Given the description of an element on the screen output the (x, y) to click on. 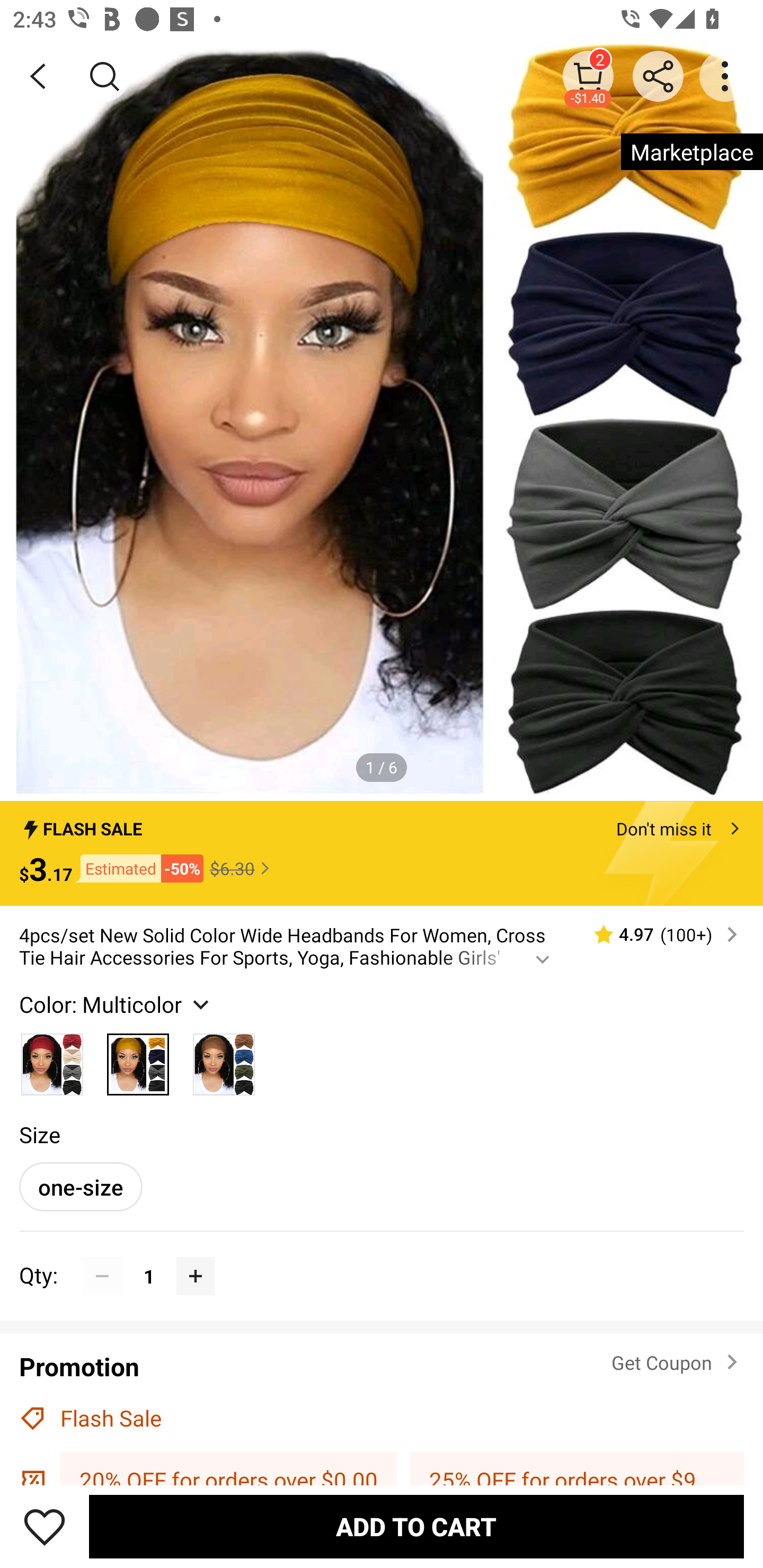
PHOTOS Marketplace 1 / 6 (381, 419)
BACK (38, 75)
2 -$1.40 (588, 75)
1 / 6 (381, 766)
FLASH SALE Don't miss it (381, 823)
Estimated -50% (137, 868)
$6.30 (241, 867)
4.97 (100‎+) (658, 934)
Color: Multicolor (116, 1004)
Multicolor (52, 1059)
Multicolor (138, 1059)
Multicolor (224, 1059)
Size (39, 1134)
one-size one-sizeunselected option (80, 1186)
Qty: 1 (381, 1256)
ADD TO CART (416, 1526)
Save (44, 1526)
